Given the description of an element on the screen output the (x, y) to click on. 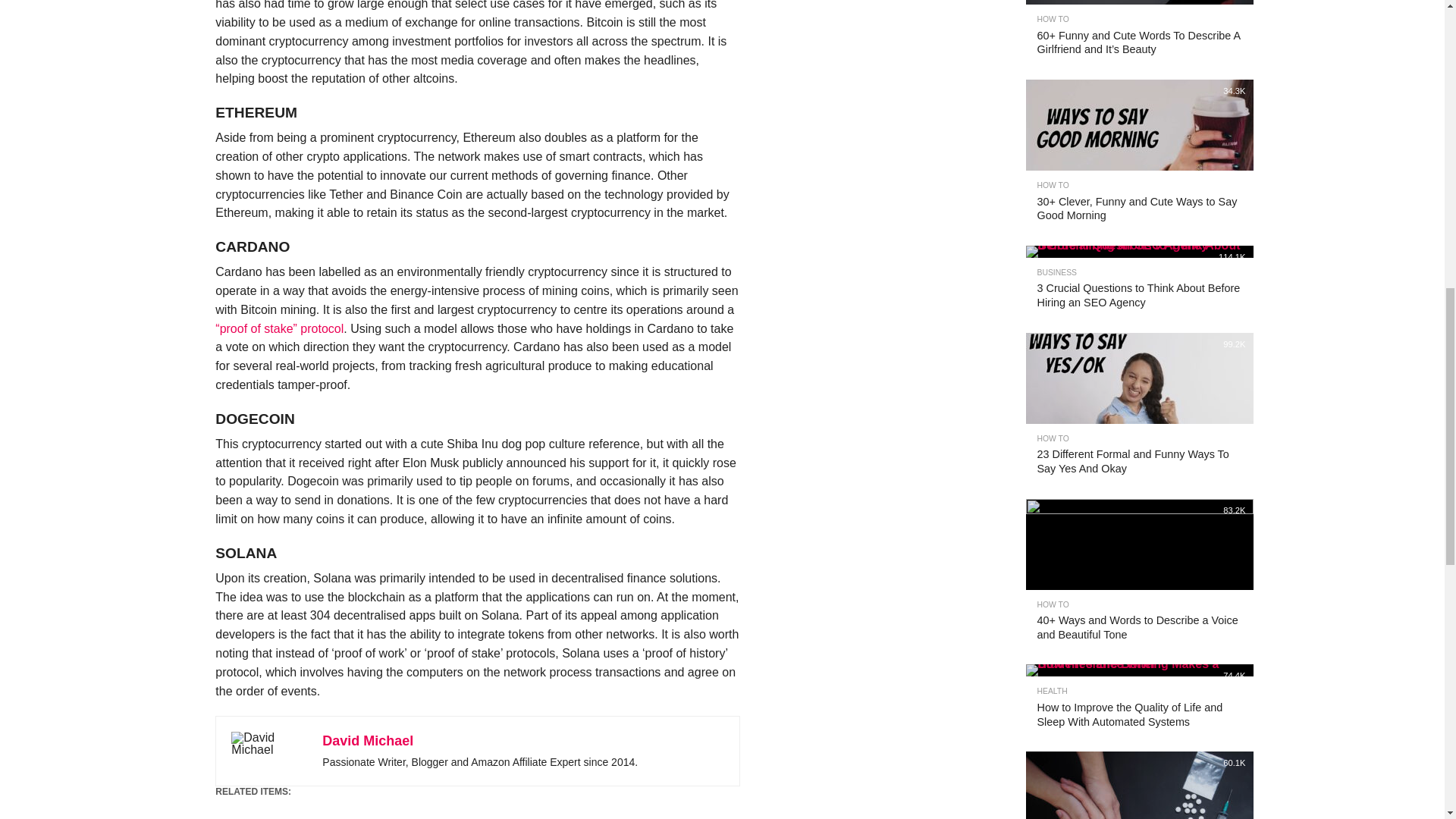
David Michael (367, 740)
